Given the description of an element on the screen output the (x, y) to click on. 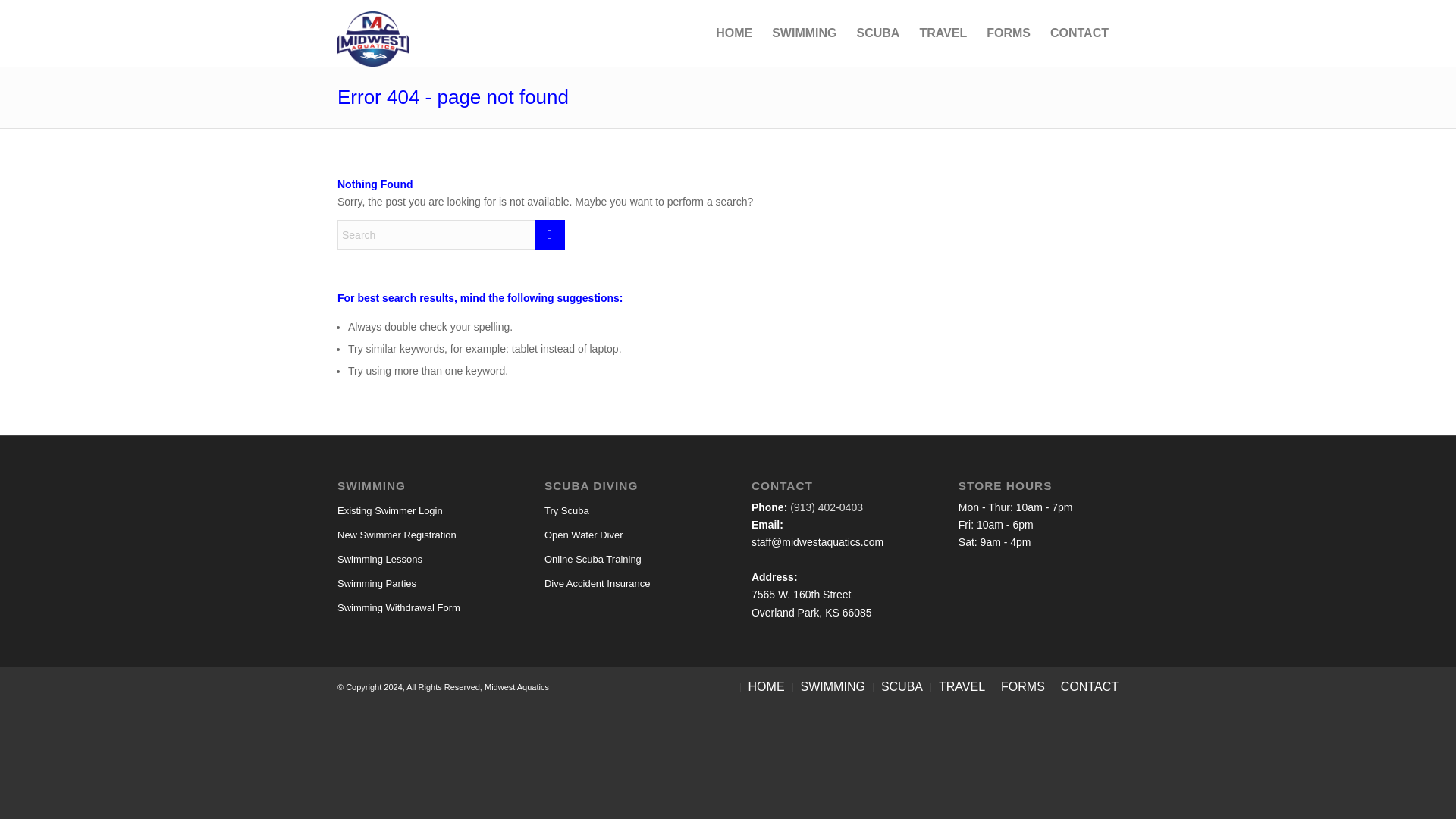
Swimming Withdrawal Form (1038, 524)
FORMS (417, 607)
Click to start search (1008, 33)
SWIMMING (549, 235)
STORE HOURS (832, 687)
HOME (1005, 485)
CONTACT (766, 687)
Dive Accident Insurance (1079, 33)
CONTACT (624, 583)
Try Scuba (1089, 687)
Online Scuba Training (624, 510)
Open Water Diver (624, 559)
SCUBA (624, 535)
